Given the description of an element on the screen output the (x, y) to click on. 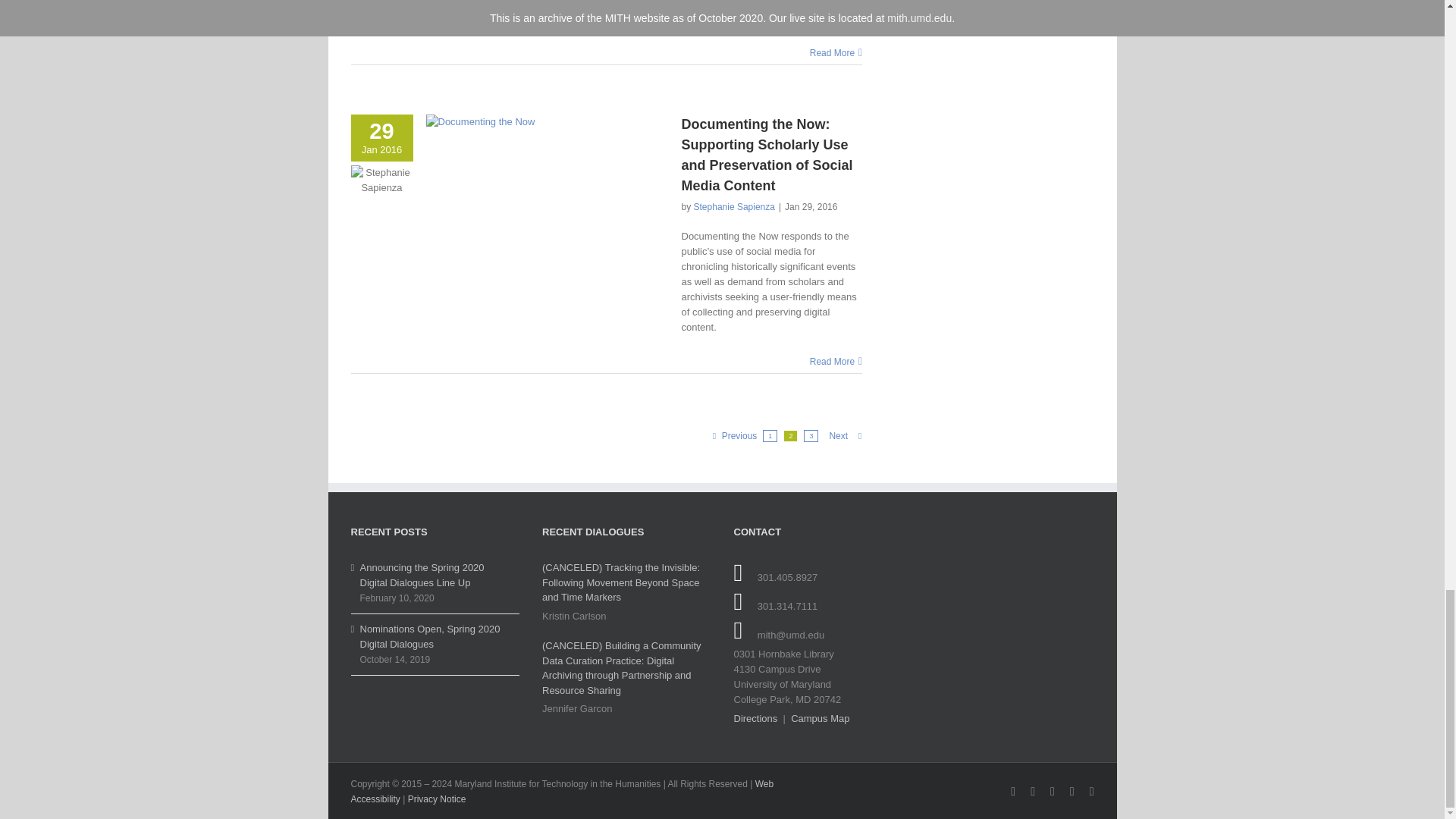
Posts by Stephanie Sapienza (734, 206)
